Given the description of an element on the screen output the (x, y) to click on. 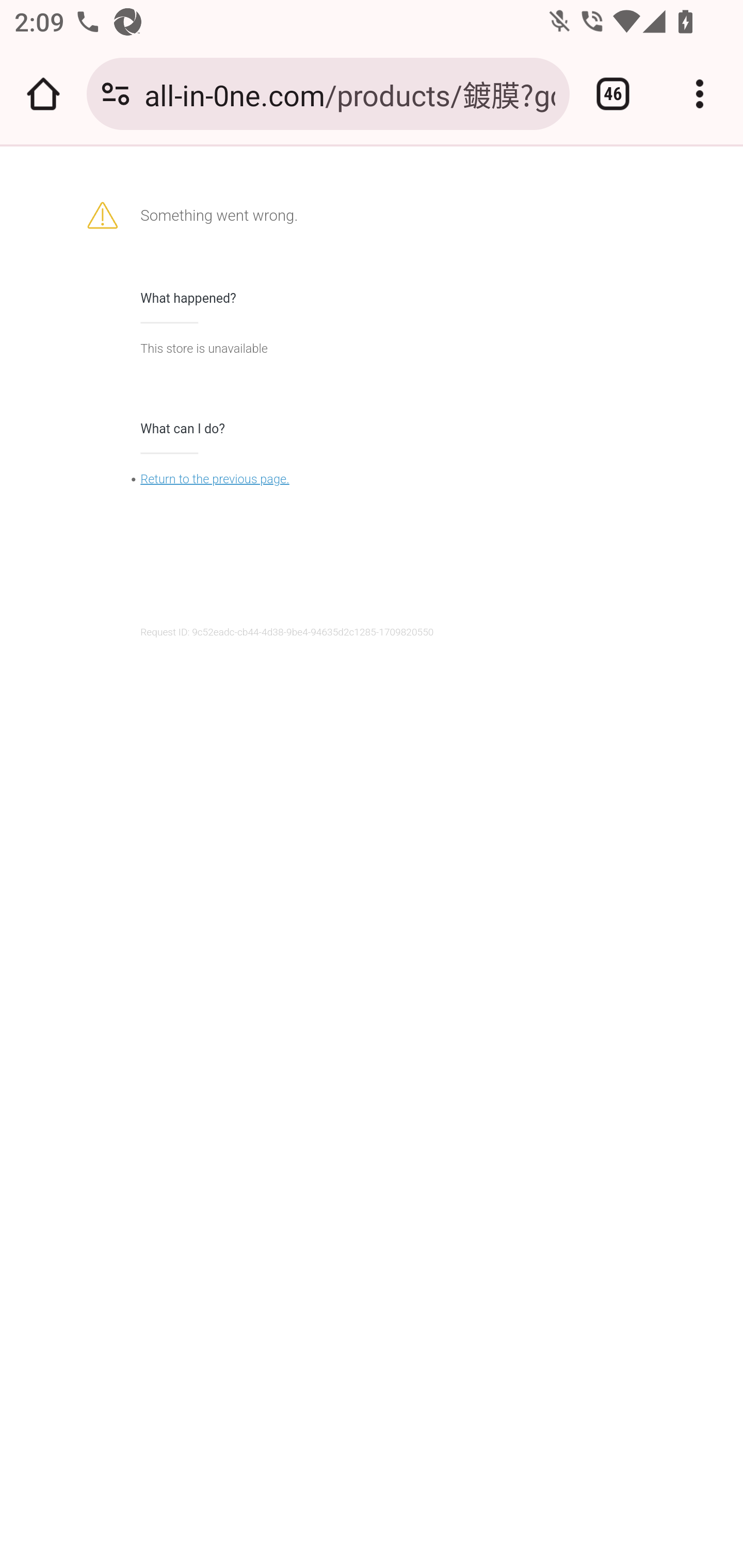
Open the home page (43, 93)
Connection is secure (115, 93)
Switch or close tabs (612, 93)
Customize and control Google Chrome (699, 93)
Return to the previous page. (214, 478)
